Given the description of an element on the screen output the (x, y) to click on. 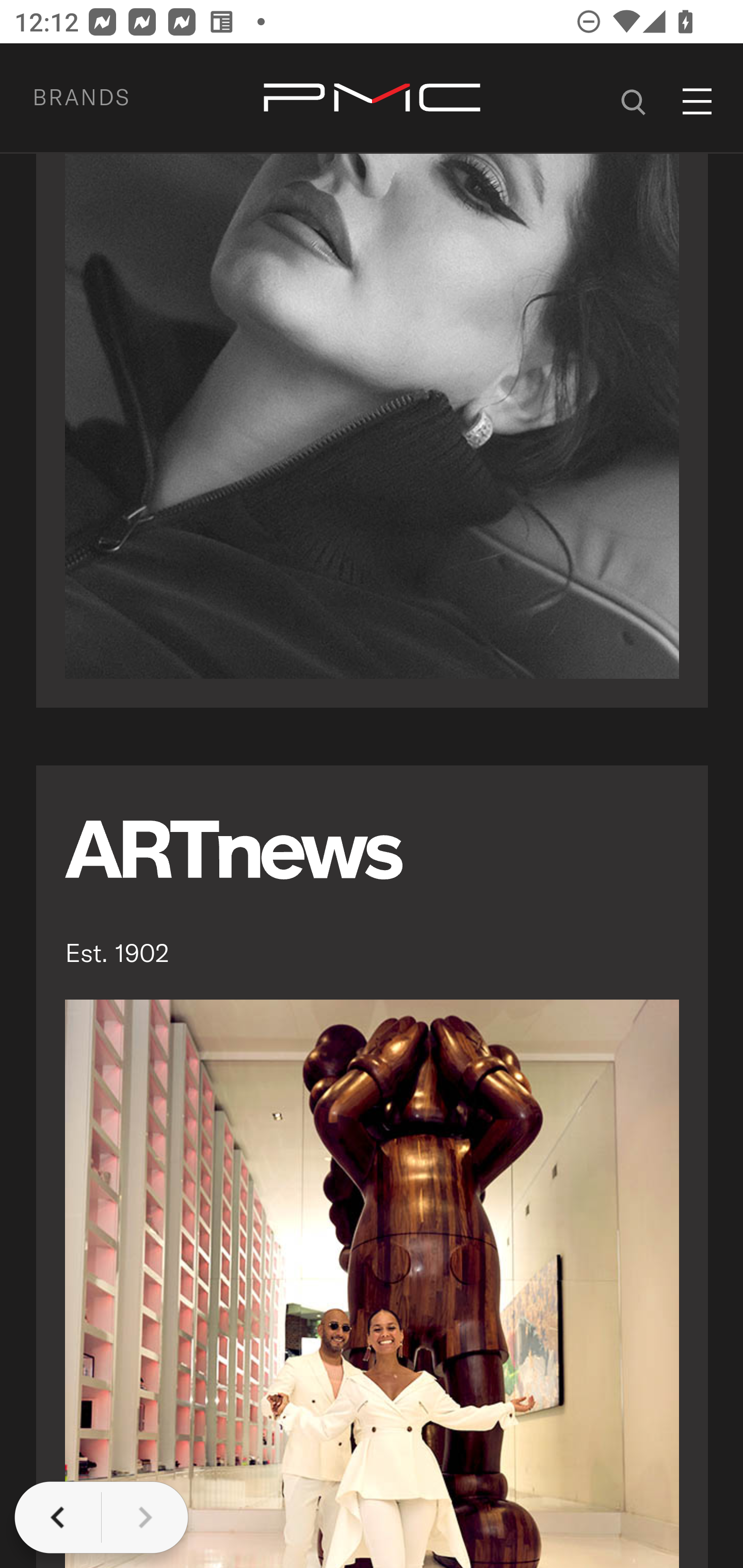
Est. 1894 (372, 375)
home (371, 98)
BRANDS (105, 99)
# (633, 99)
menu (697, 101)
Est. 1902 Est. 1902 (372, 1166)
